Given the description of an element on the screen output the (x, y) to click on. 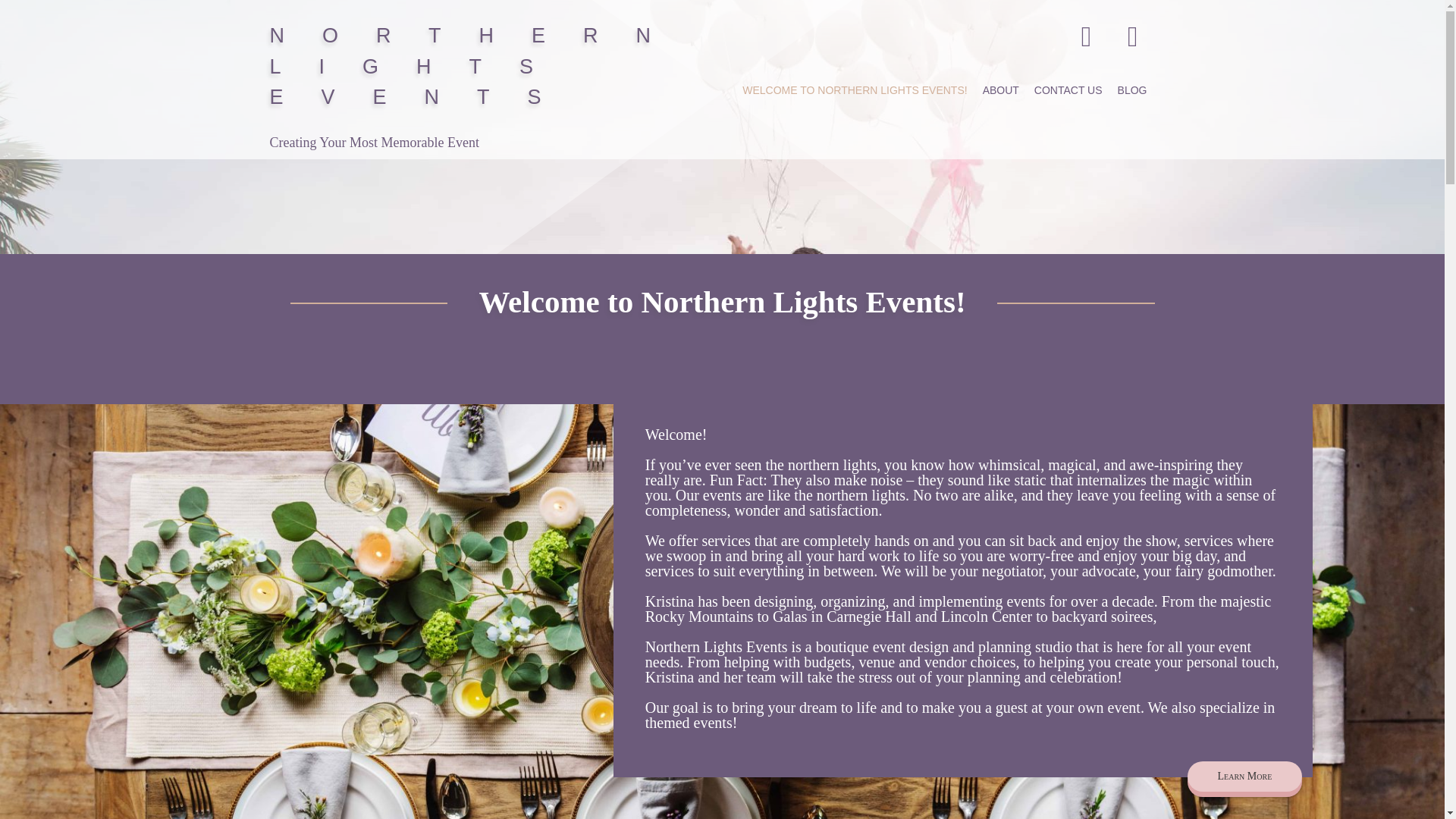
INSTAGRAM (1132, 35)
Facebook (1085, 35)
CONTACT US (1067, 90)
NORTHERN LIGHTS EVENTS (478, 66)
Welcome to Northern Lights Events! (720, 301)
ABOUT (1000, 90)
BLOG (1131, 90)
WELCOME TO NORTHERN LIGHTS EVENTS! (854, 90)
FACEBOOK (1085, 35)
Instagram (1132, 35)
Learn More (1245, 776)
